Given the description of an element on the screen output the (x, y) to click on. 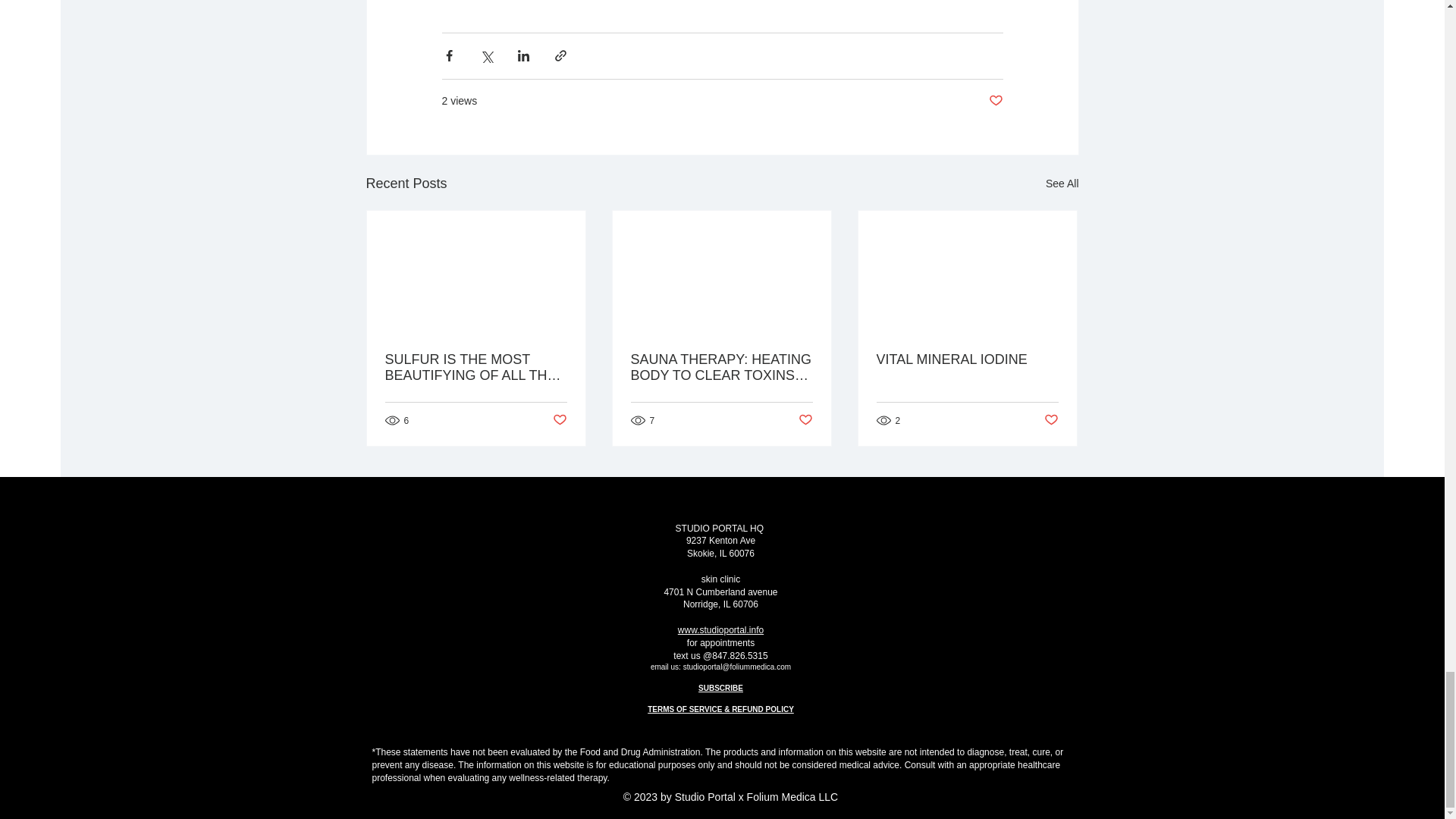
Post not marked as liked (804, 420)
www.studioportal.info (720, 629)
VITAL MINERAL IODINE (967, 359)
Post not marked as liked (558, 420)
SUBSCRIBE (720, 687)
See All (1061, 183)
Post not marked as liked (995, 100)
SULFUR IS THE MOST BEAUTIFYING OF ALL THE ELEMENTS (476, 368)
Post not marked as liked (1050, 420)
